Given the description of an element on the screen output the (x, y) to click on. 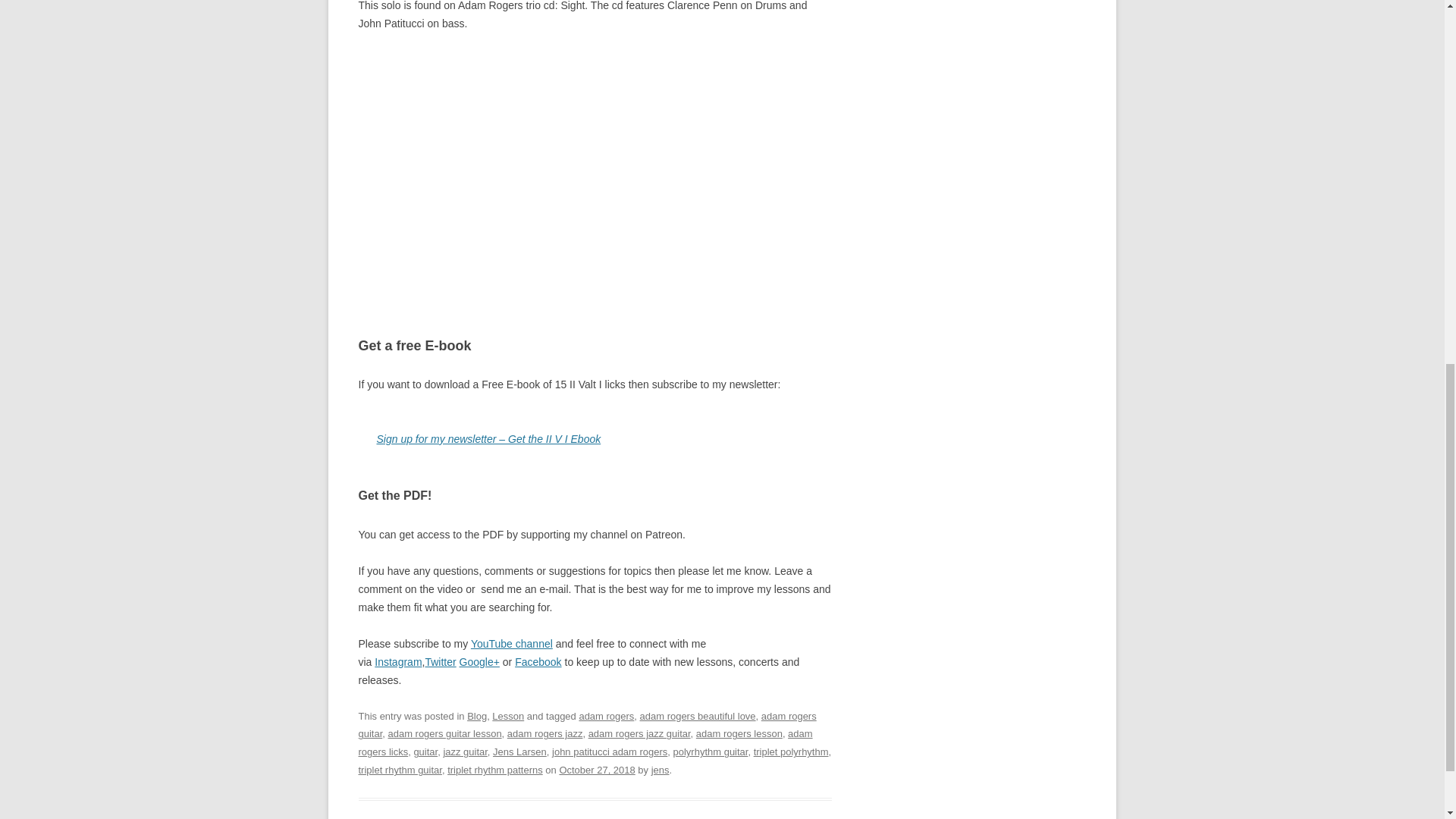
adam rogers lesson (739, 733)
adam rogers guitar (586, 724)
adam rogers licks (585, 742)
adam rogers beautiful love (697, 715)
john patitucci adam rogers (608, 751)
adam rogers jazz (544, 733)
guitar (425, 751)
Twitter (440, 661)
adam rogers guitar lesson (443, 733)
YouTube channel (511, 643)
